Given the description of an element on the screen output the (x, y) to click on. 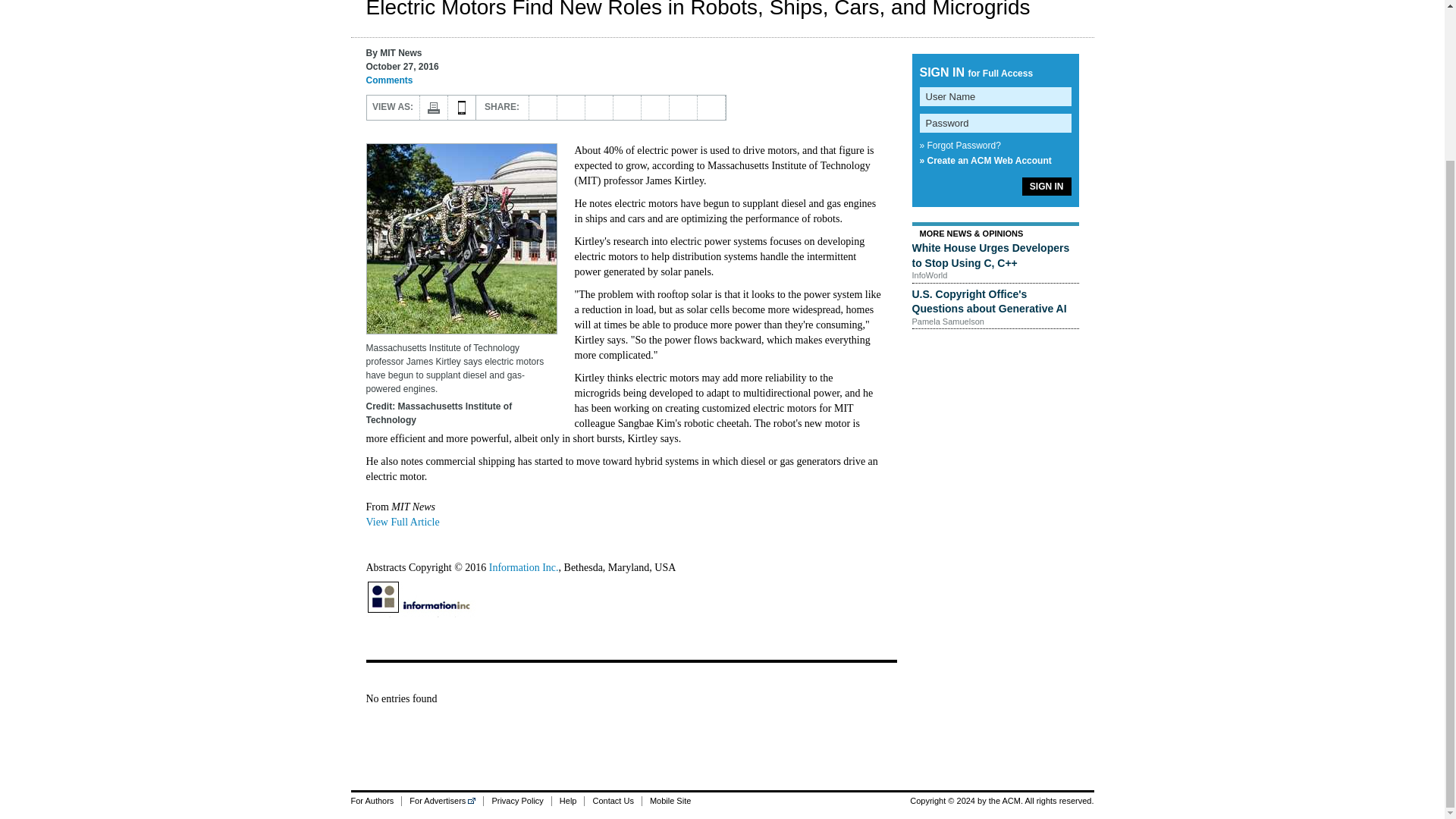
MOBILE APPS (461, 107)
Help (568, 800)
For Authors (375, 800)
Contact Us (611, 800)
For Advertisers (442, 800)
Print (434, 107)
Privacy Policy (516, 800)
